Given the description of an element on the screen output the (x, y) to click on. 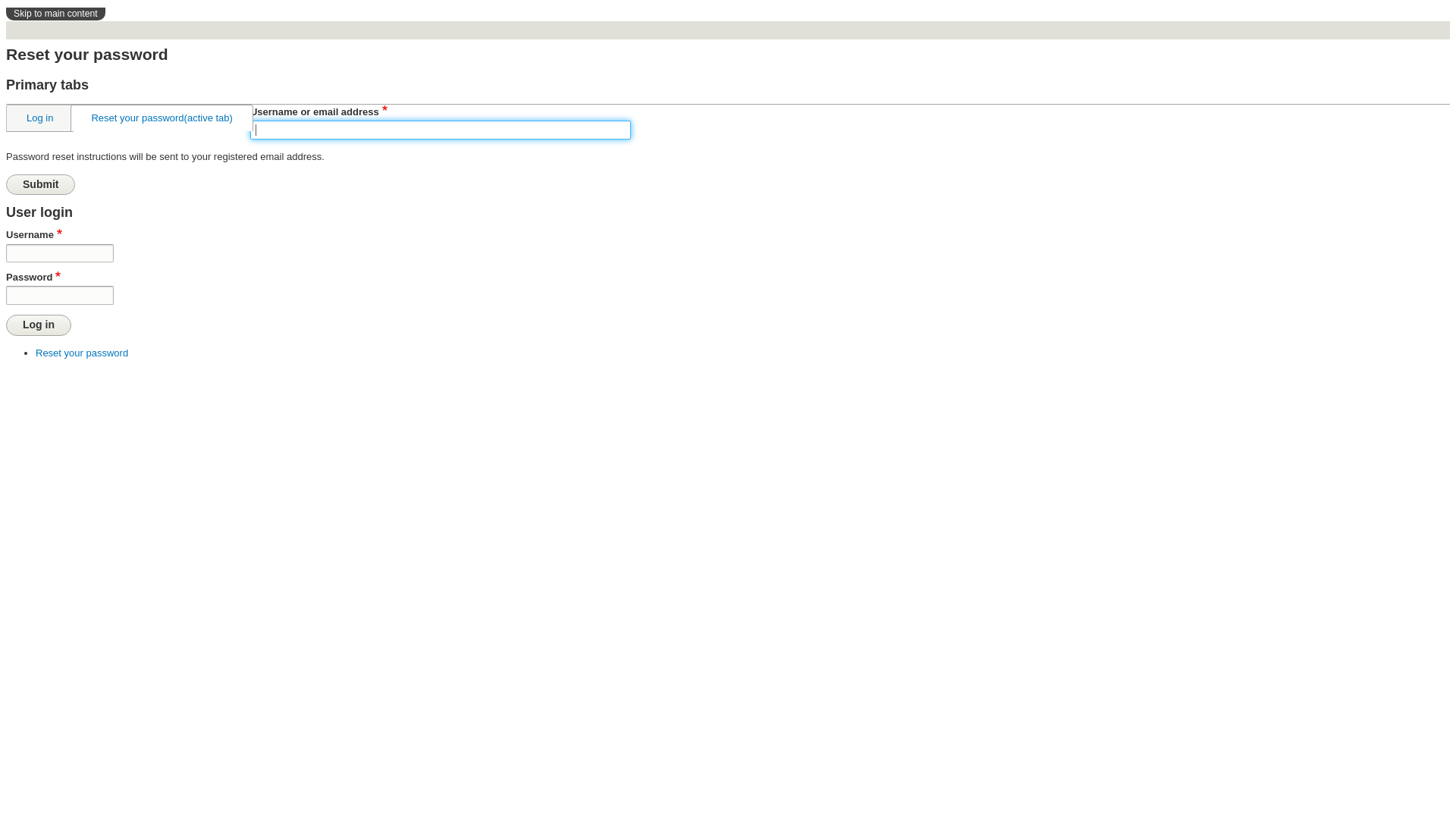
Log in Element type: text (38, 324)
Reset your password(active tab) Element type: text (161, 118)
Submit Element type: text (40, 184)
Reset your password Element type: text (81, 352)
Log in Element type: text (39, 118)
Skip to main content Element type: text (55, 13)
